Given the description of an element on the screen output the (x, y) to click on. 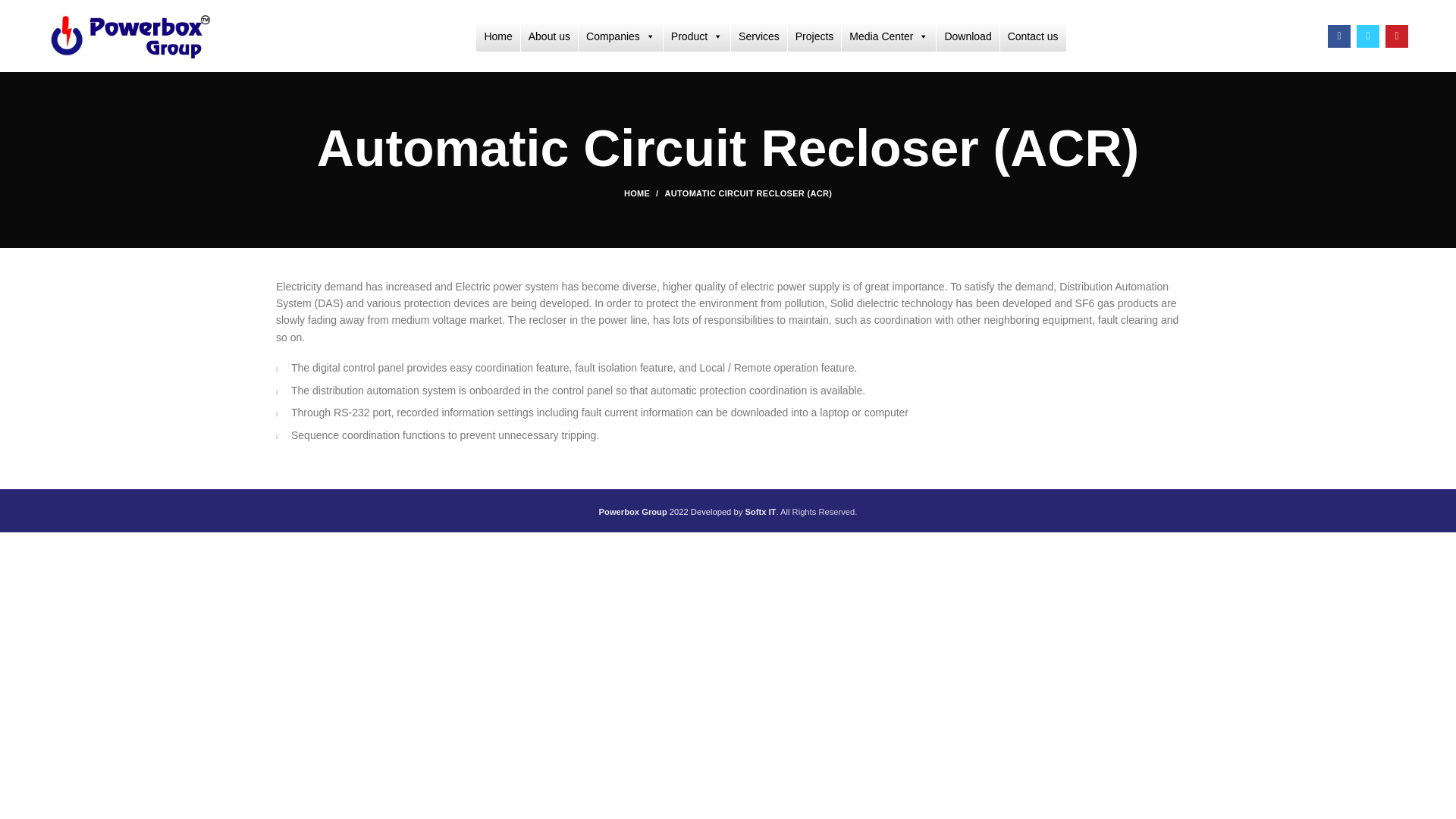
About us (549, 36)
Home (497, 36)
Product (696, 36)
Companies (620, 36)
